Given the description of an element on the screen output the (x, y) to click on. 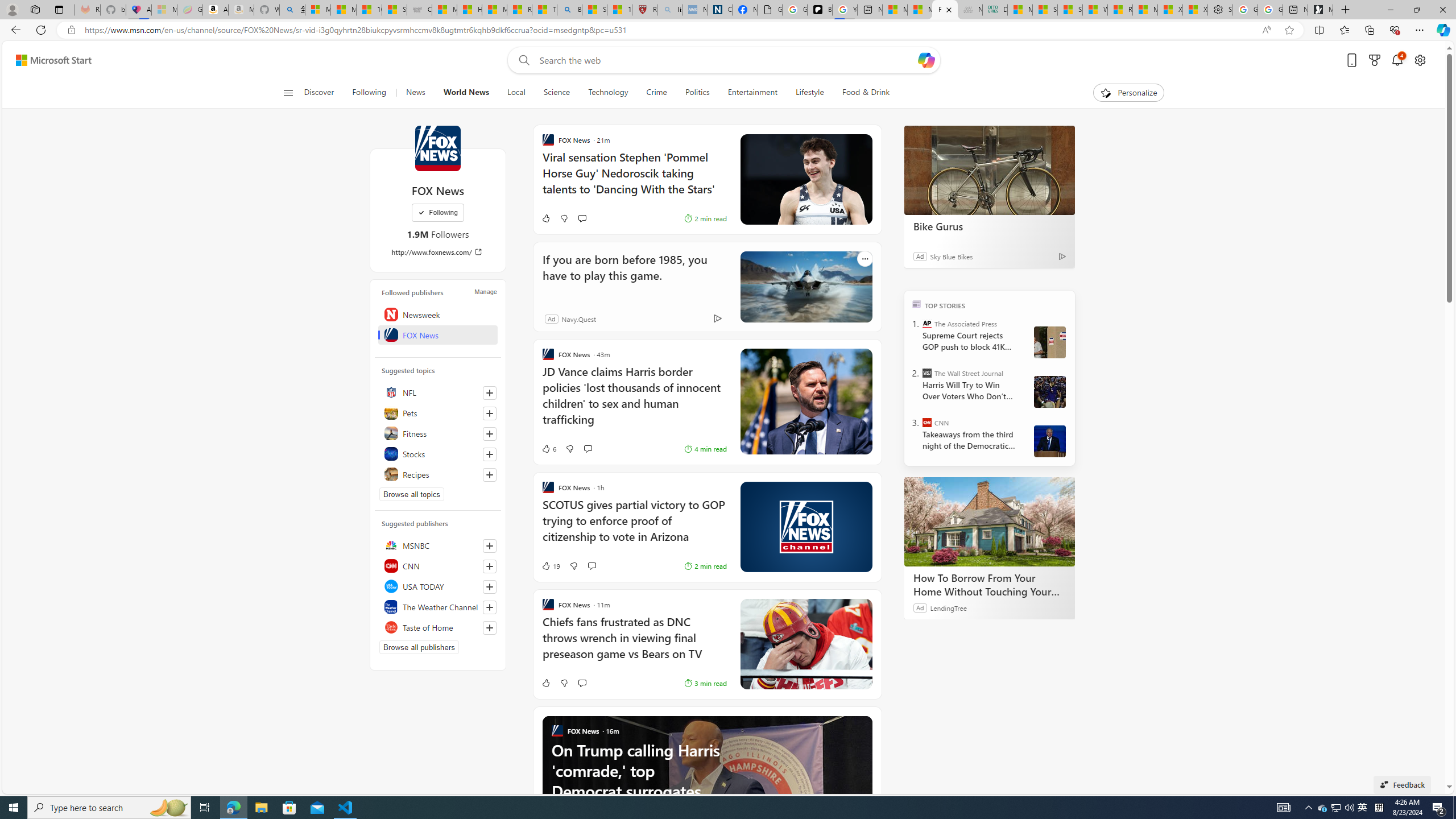
Browse all publishers (419, 647)
